Given the description of an element on the screen output the (x, y) to click on. 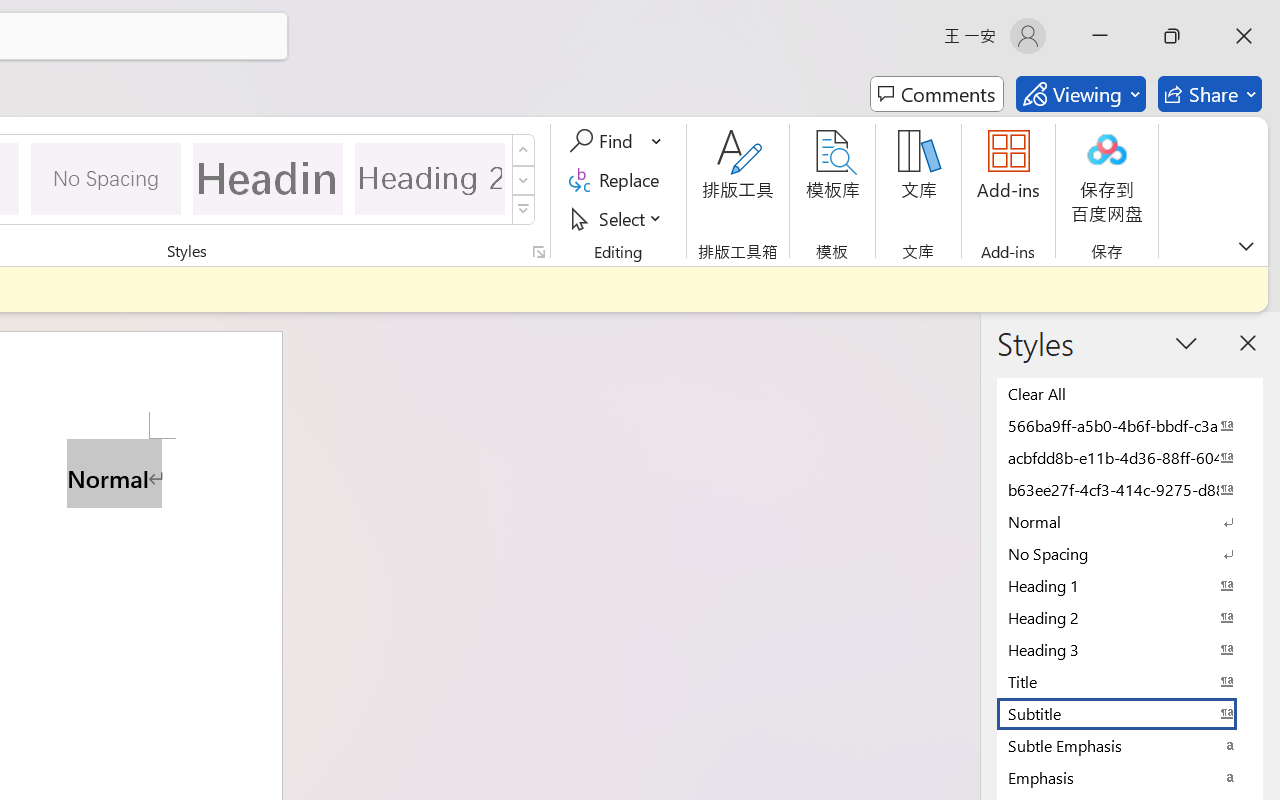
Styles (523, 209)
Clear All (1130, 393)
Emphasis (1130, 777)
Row Down (523, 180)
Select (618, 218)
